Given the description of an element on the screen output the (x, y) to click on. 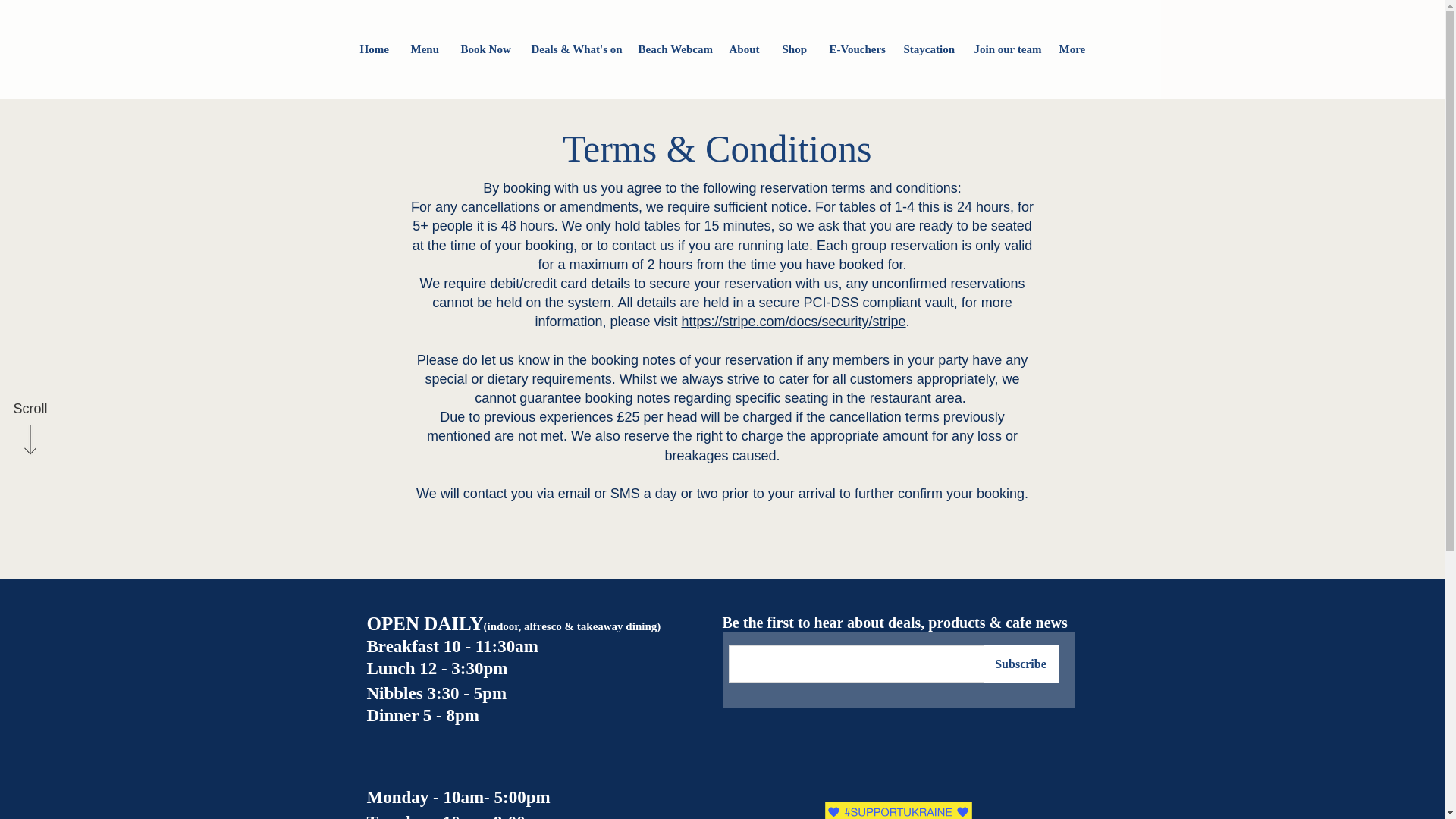
Book Now (483, 48)
Home (373, 48)
Shop (793, 48)
Join our team (1005, 48)
E-Vouchers (853, 48)
Subscribe (1020, 664)
Staycation (926, 48)
Menu (423, 48)
Scroll (29, 409)
Beach Webcam (671, 48)
About (743, 48)
